Given the description of an element on the screen output the (x, y) to click on. 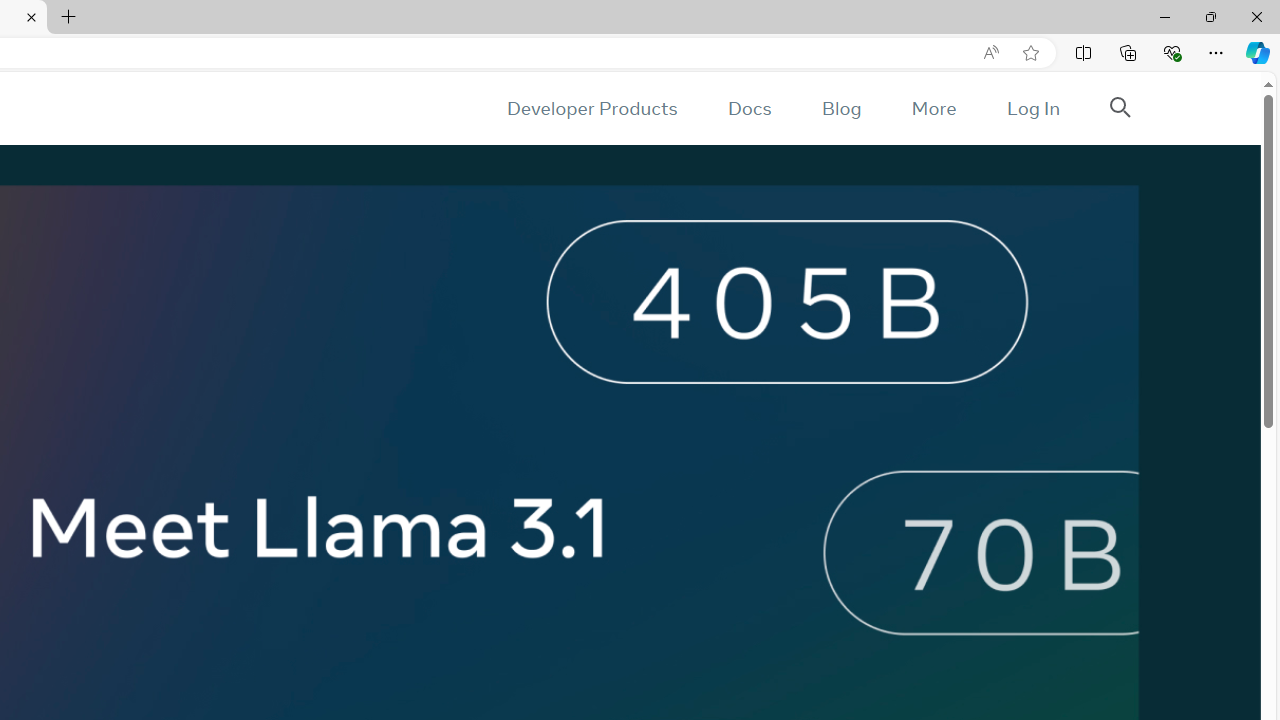
Blog (841, 108)
Docs (749, 108)
Developer Products (591, 108)
Docs (749, 108)
Log In (1032, 108)
Outlook (1258, 174)
